Given the description of an element on the screen output the (x, y) to click on. 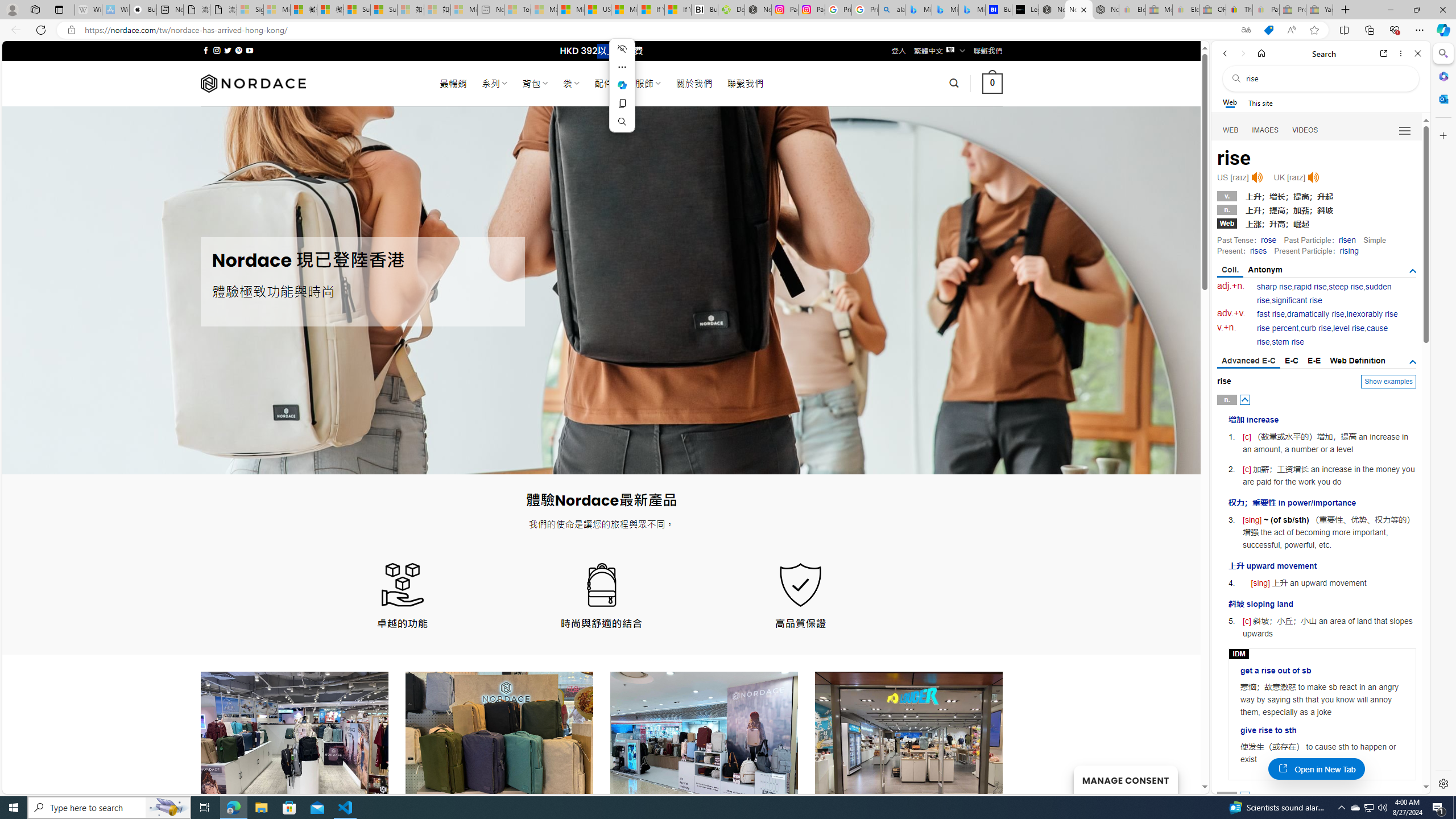
Follow on Instagram (216, 50)
fast rise (1270, 313)
Mini menu on text selection (622, 84)
Follow on Pinterest (237, 50)
Threats and offensive language policy | eBay (1239, 9)
Click to listen (1313, 177)
